Given the description of an element on the screen output the (x, y) to click on. 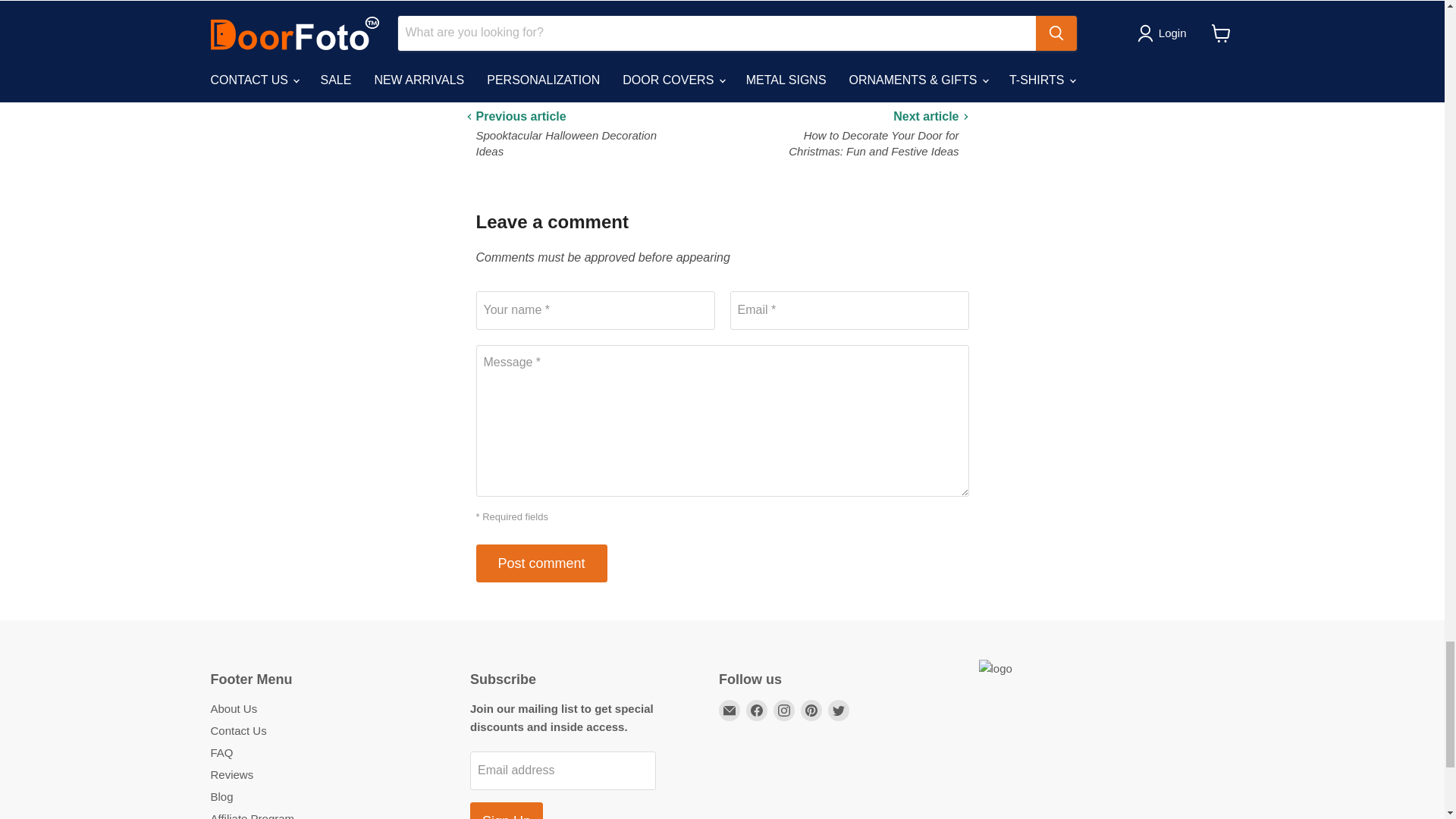
Pinterest (811, 710)
Twitter (838, 710)
E-mail (729, 710)
Facebook (756, 710)
Instagram (783, 710)
Show articles tagged Mother's Day Decorations (579, 51)
